Given the description of an element on the screen output the (x, y) to click on. 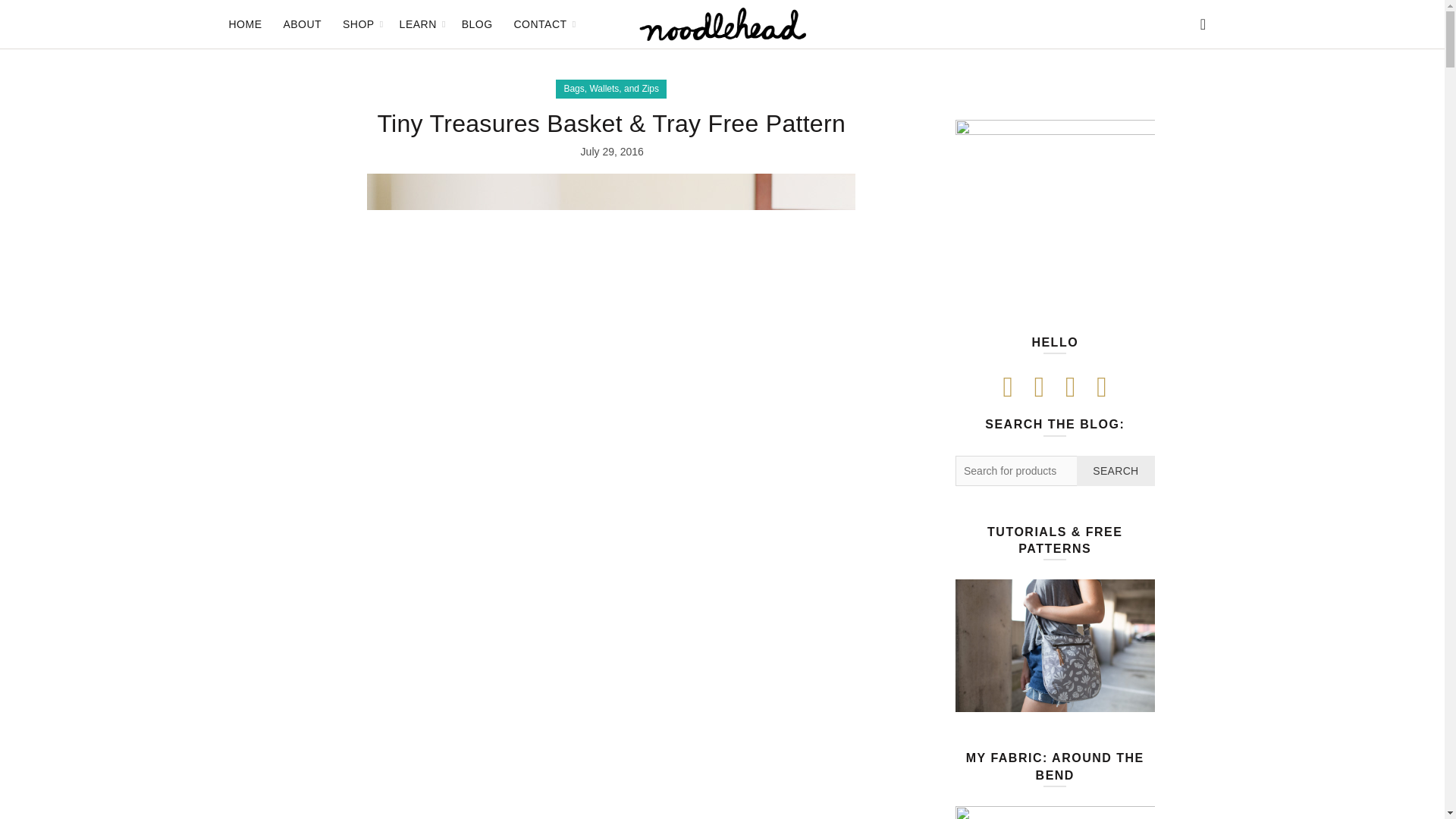
My Fabric (1054, 812)
Anna Graham (1054, 219)
BLOG (476, 23)
LEARN (418, 23)
SHOP (358, 23)
CONTACT (539, 23)
ABOUT (302, 23)
HOME (244, 23)
